Given the description of an element on the screen output the (x, y) to click on. 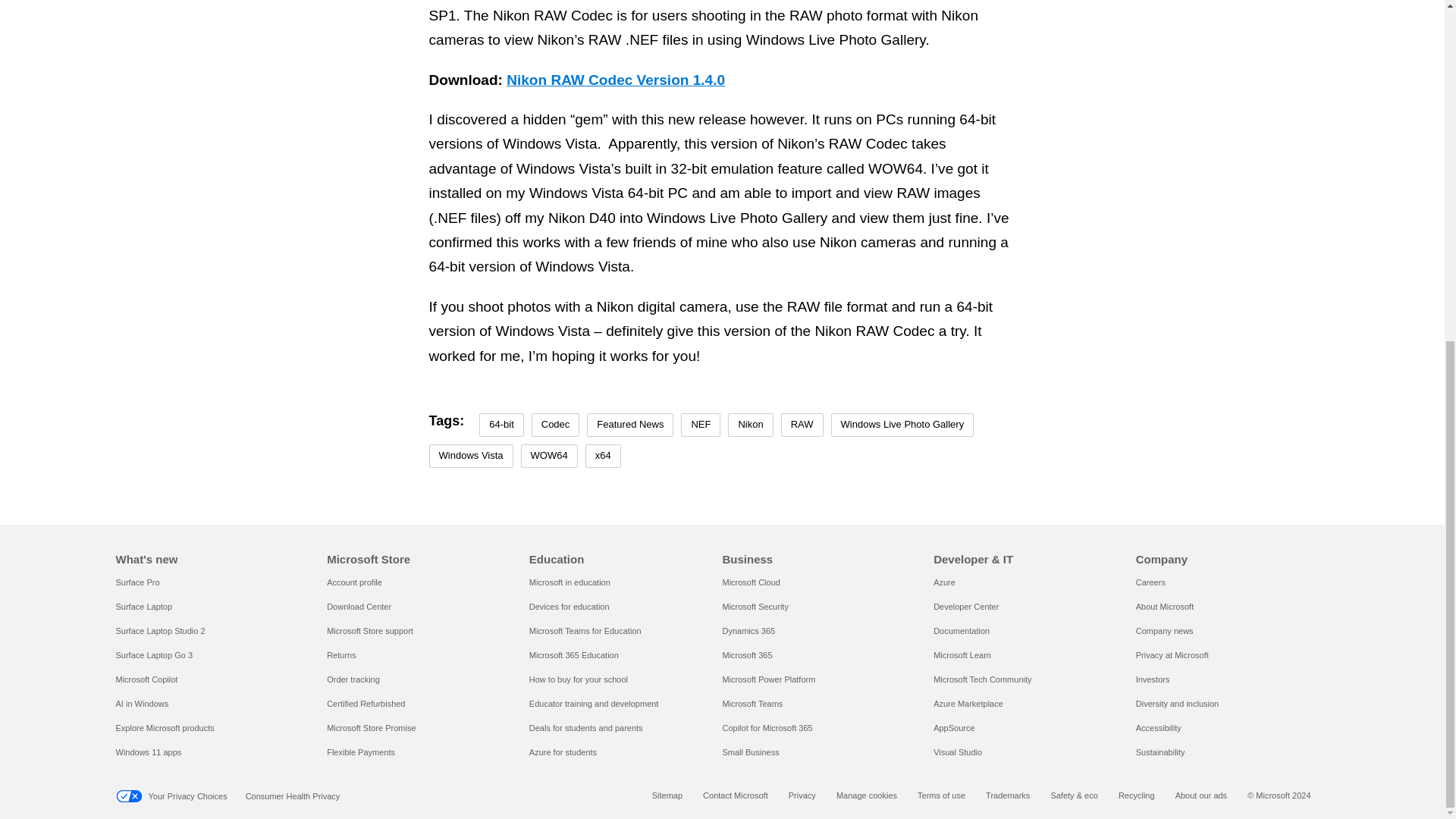
64-bit Tag (501, 424)
x64 Tag (603, 455)
Windows Vista Tag (471, 455)
RAW Tag (802, 424)
Nikon Tag (750, 424)
NEF Tag (700, 424)
Codec Tag (555, 424)
Windows Live Photo Gallery Tag (902, 424)
Featured News Tag (629, 424)
WOW64 Tag (549, 455)
